Given the description of an element on the screen output the (x, y) to click on. 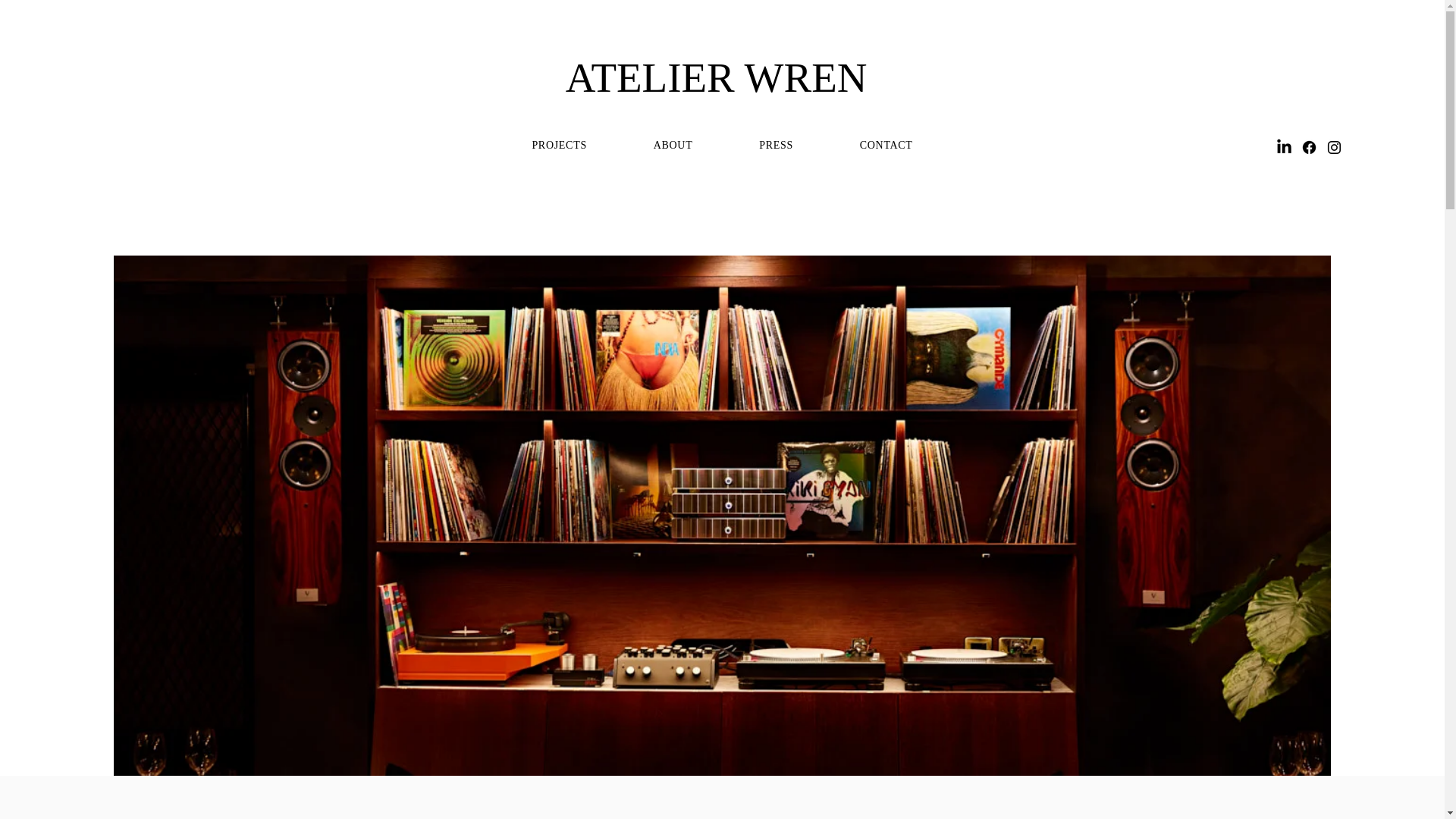
PRESS (776, 144)
CONTACT (886, 144)
ABOUT (673, 144)
ATELIER WREN  (721, 77)
PROJECTS (557, 144)
